Given the description of an element on the screen output the (x, y) to click on. 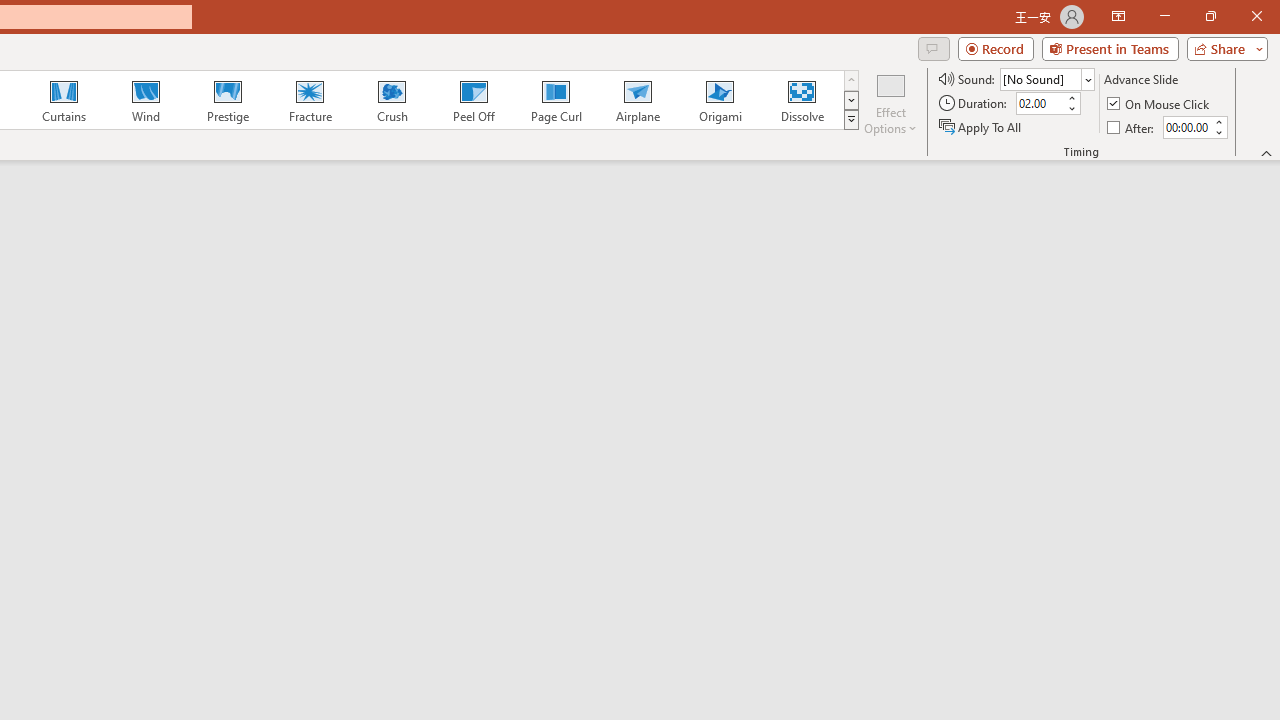
Curtains (63, 100)
Page Curl (555, 100)
After (1131, 126)
Origami (719, 100)
Prestige (227, 100)
Dissolve (802, 100)
Duration (1039, 103)
After (1186, 127)
